Given the description of an element on the screen output the (x, y) to click on. 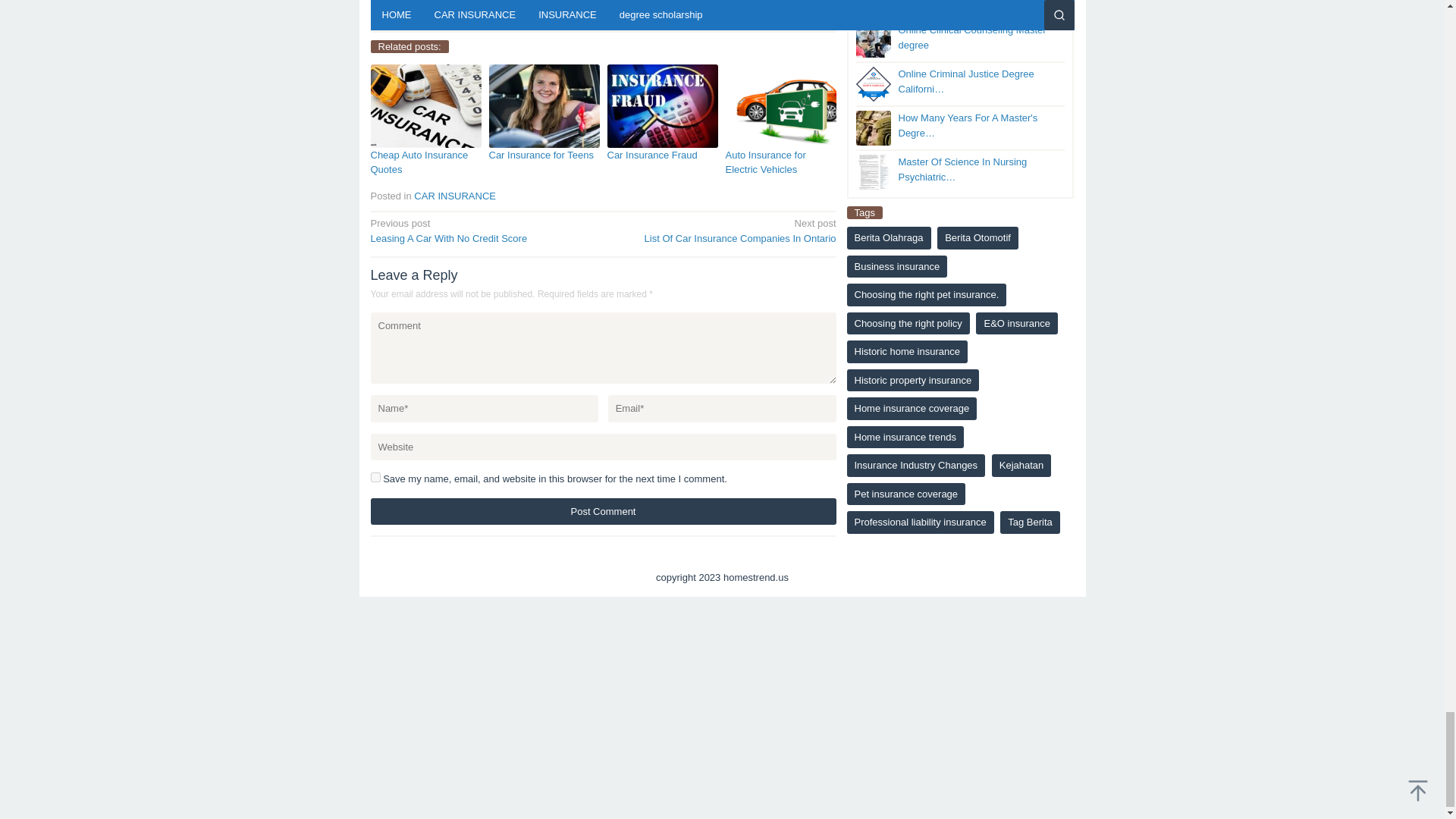
yes (374, 477)
Cheap Auto Insurance Quotes (723, 230)
Tweet this (418, 162)
Post Comment (406, 20)
Pin this (602, 511)
Share this (429, 20)
Auto Insurance for Electric Vehicles (481, 230)
Car Insurance Fraud (383, 20)
Car Insurance for Teens (765, 162)
Post Comment (652, 154)
CAR INSURANCE (540, 154)
Telegram Share (602, 511)
